Given the description of an element on the screen output the (x, y) to click on. 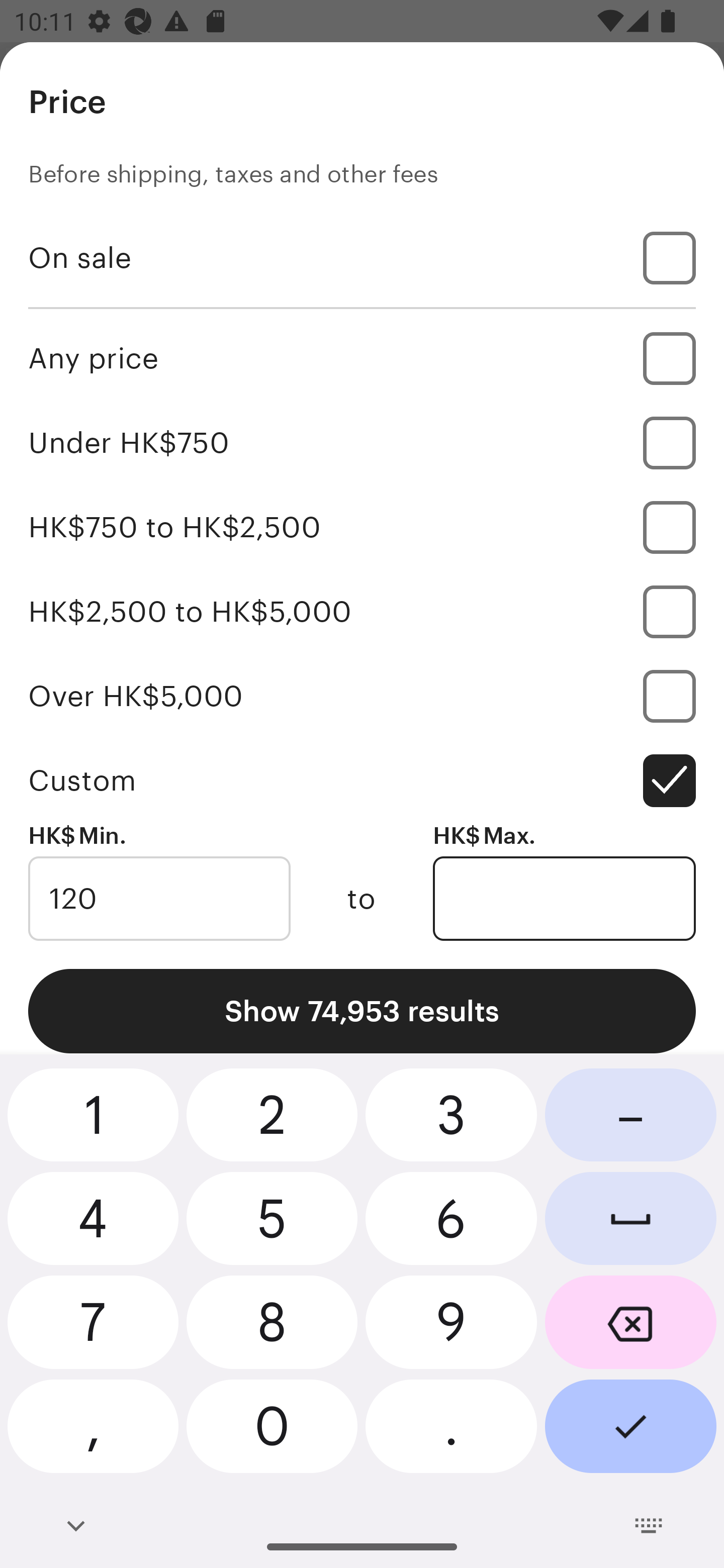
On sale (362, 257)
Any price (362, 357)
Under HK$750 (362, 441)
HK$750 to HK$2,500 (362, 526)
HK$2,500 to HK$5,000 (362, 611)
Over HK$5,000 (362, 695)
Custom (362, 780)
120 (159, 898)
Show 74,953 results (361, 1011)
